Given the description of an element on the screen output the (x, y) to click on. 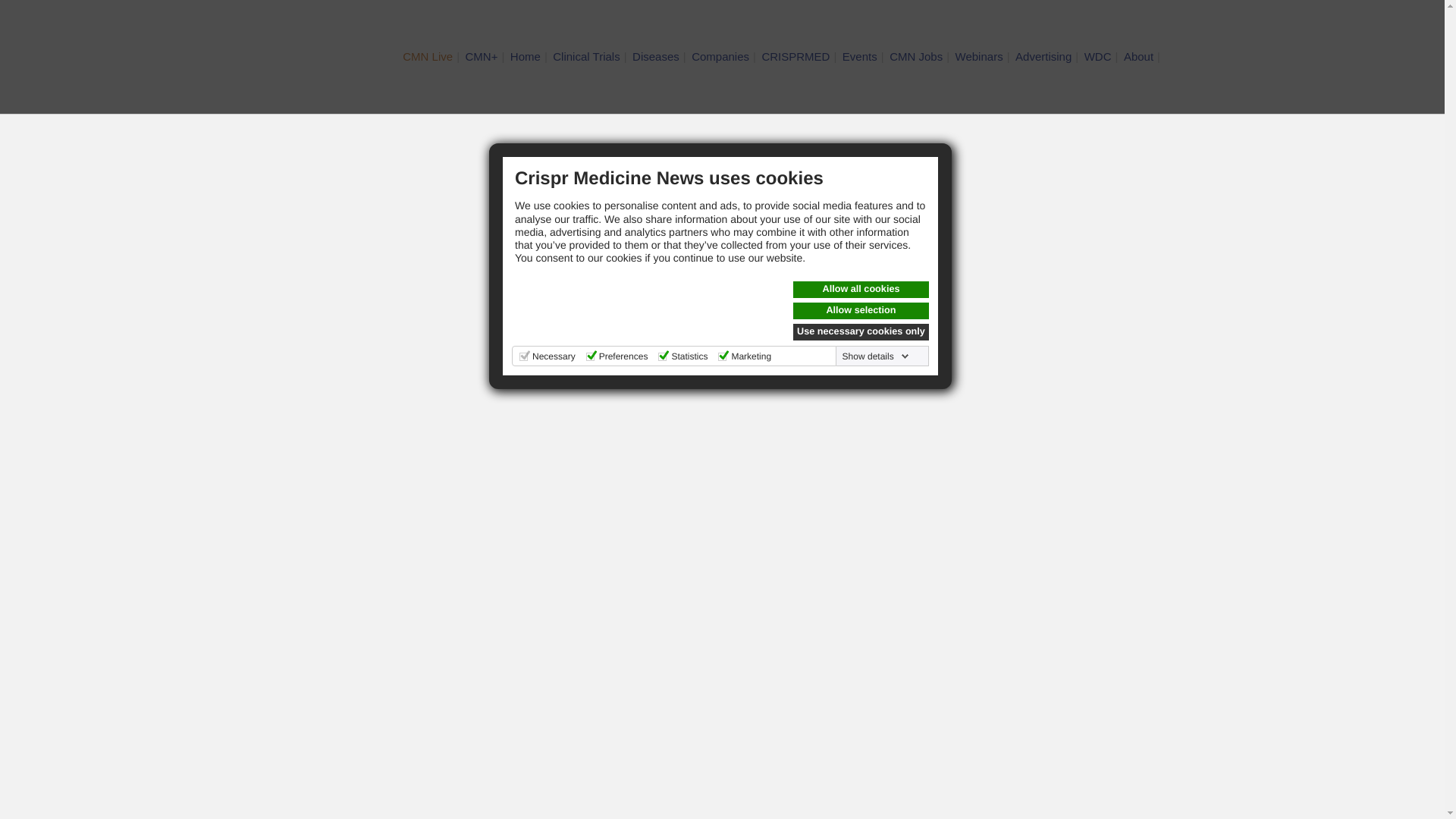
Allow all cookies (860, 289)
Show details (876, 356)
Allow selection (860, 310)
Use necessary cookies only (860, 331)
